Given the description of an element on the screen output the (x, y) to click on. 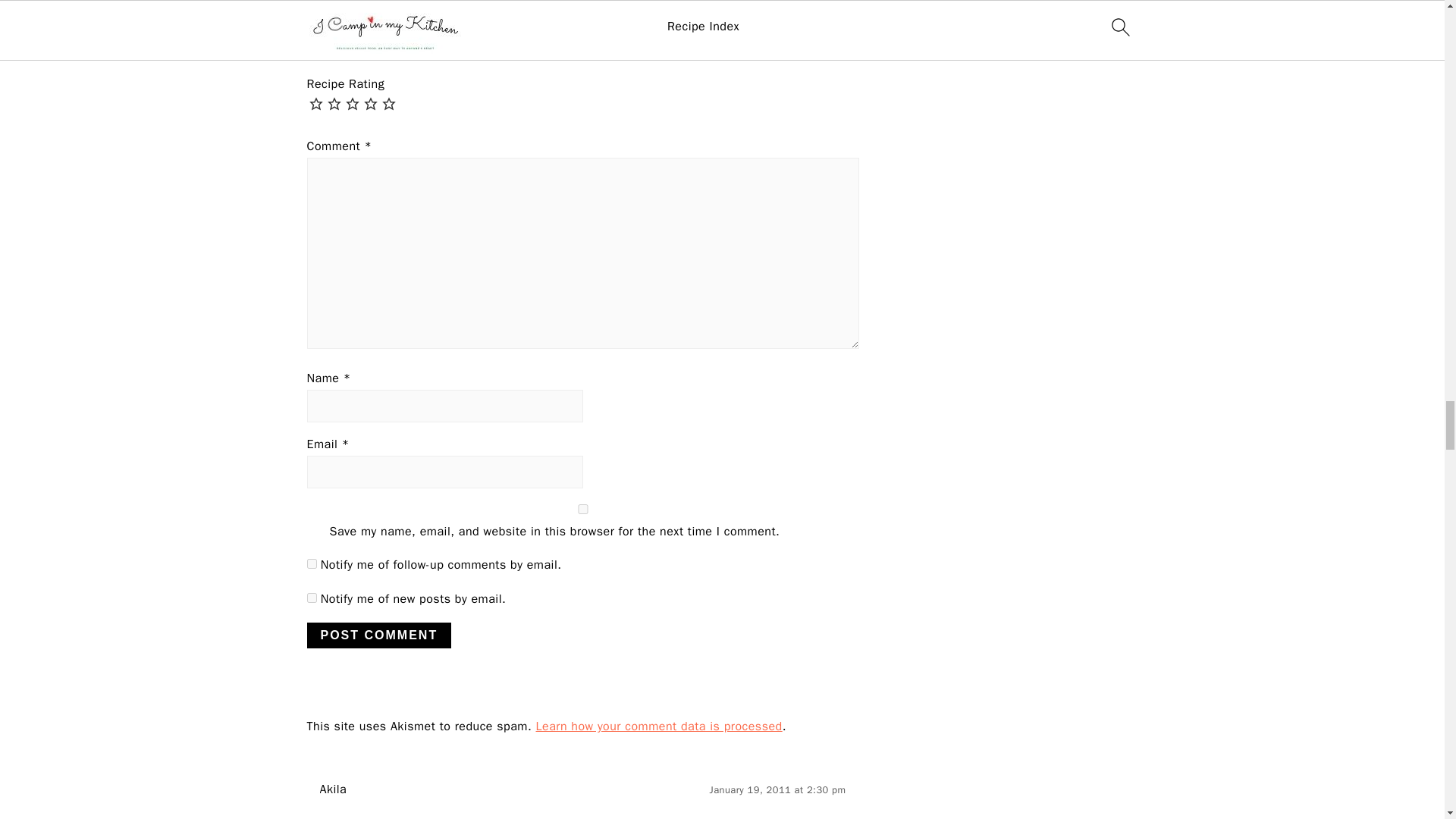
subscribe (310, 563)
subscribe (310, 597)
yes (582, 509)
Post Comment (378, 635)
